Given the description of an element on the screen output the (x, y) to click on. 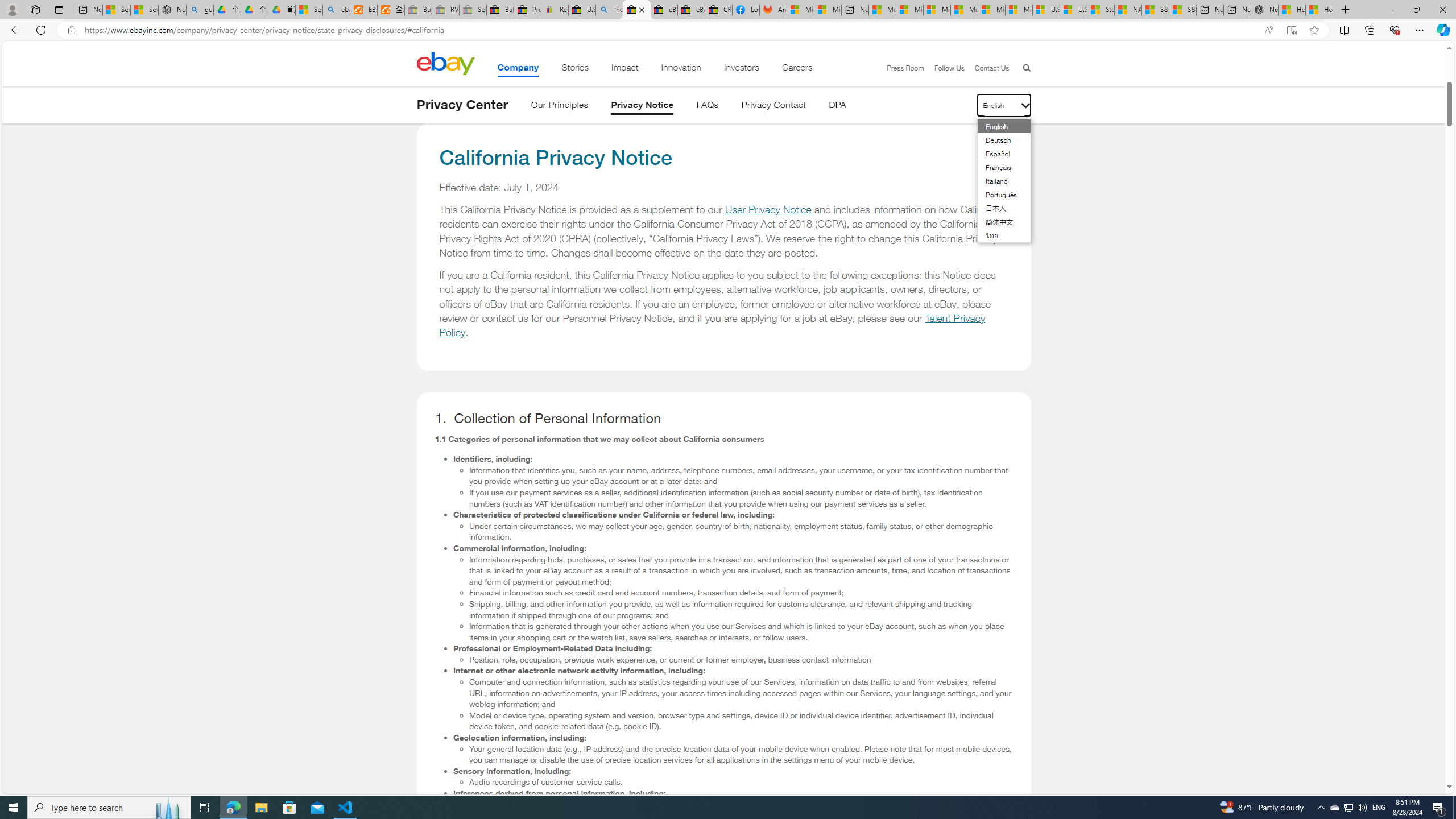
Privacy Contact (773, 107)
S&P 500, Nasdaq end lower, weighed by Nvidia dip | Watch (1182, 9)
Our Principles (558, 107)
Read aloud this page (Ctrl+Shift+U) (1268, 29)
Browser essentials (1394, 29)
Press Room - eBay Inc. (527, 9)
DPA (836, 107)
Workspaces (34, 9)
Baby Keepsakes & Announcements for sale | eBay (499, 9)
